Given the description of an element on the screen output the (x, y) to click on. 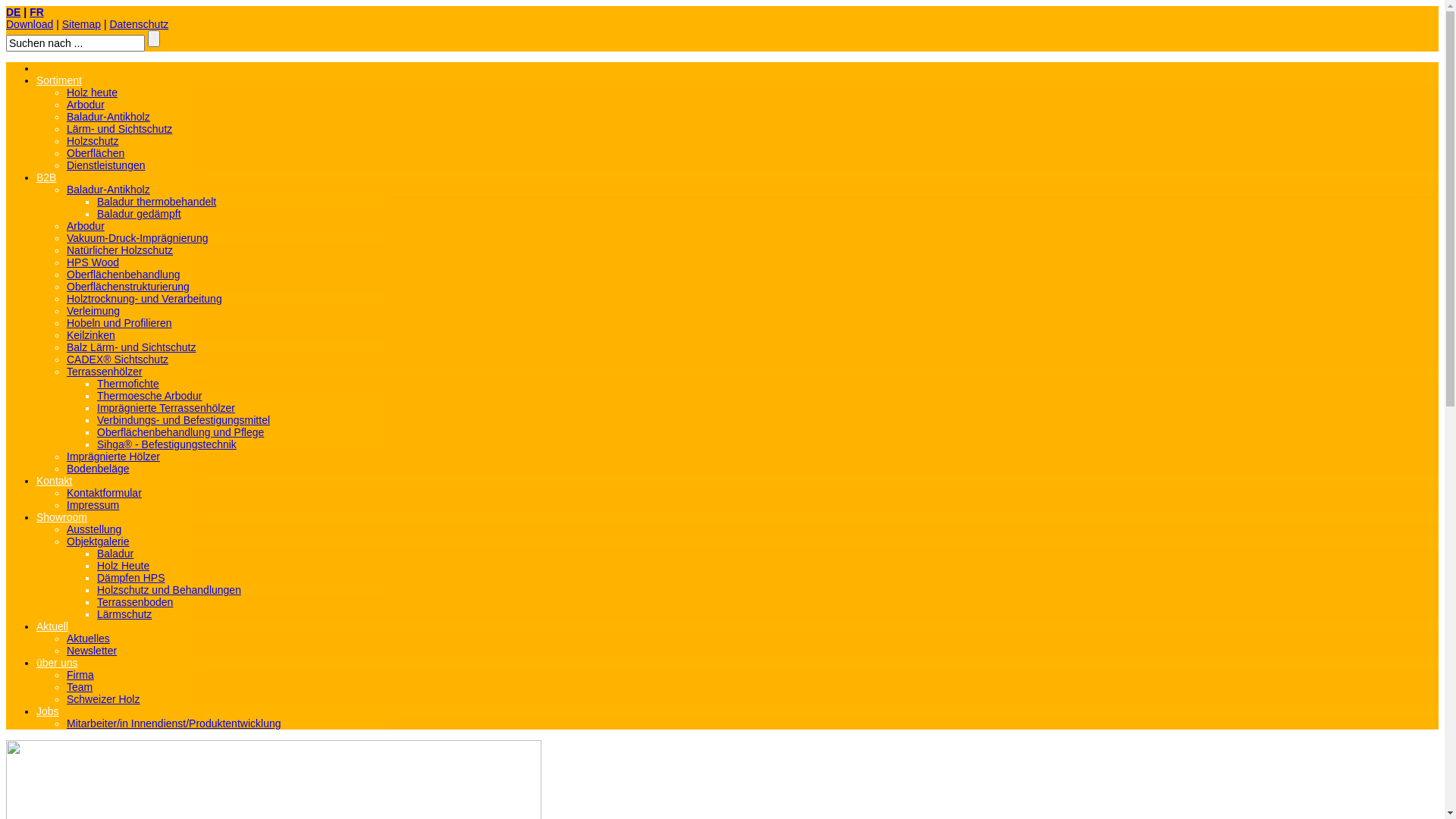
Aktuelles Element type: text (87, 638)
Jobs Element type: text (47, 711)
Baladur-Antikholz Element type: text (108, 116)
Arbodur Element type: text (85, 104)
Sortiment Element type: text (58, 80)
Holztrocknung- und Verarbeitung Element type: text (144, 298)
Newsletter Element type: text (91, 650)
Verbindungs- und Befestigungsmittel Element type: text (183, 420)
HPS Wood Element type: text (92, 262)
Mitarbeiter/in Innendienst/Produktentwicklung Element type: text (173, 723)
Firma Element type: text (80, 674)
Baladur thermobehandelt Element type: text (156, 201)
Aktuell Element type: text (52, 626)
Ausstellung Element type: text (93, 529)
DE Element type: text (13, 12)
Download Element type: text (29, 24)
Datenschutz Element type: text (138, 24)
Sitemap Element type: text (81, 24)
Terrassenboden Element type: text (134, 602)
Thermofichte Element type: text (128, 383)
Verleimung Element type: text (92, 310)
Keilzinken Element type: text (90, 335)
Holzschutz Element type: text (92, 140)
Holzschutz und Behandlungen Element type: text (169, 589)
Showroom Element type: text (61, 517)
Schweizer Holz Element type: text (102, 699)
Kontakt Element type: text (54, 480)
Thermoesche Arbodur Element type: text (149, 395)
Holz Heute Element type: text (123, 565)
FR Element type: text (36, 12)
Objektgalerie Element type: text (97, 541)
Kontaktformular Element type: text (103, 492)
Dienstleistungen Element type: text (105, 165)
Baladur-Antikholz Element type: text (108, 189)
B2B Element type: text (46, 177)
Baladur Element type: text (115, 553)
Hobeln und Profilieren Element type: text (119, 322)
Arbodur Element type: text (85, 225)
Team Element type: text (79, 686)
Impressum Element type: text (92, 504)
Holz heute Element type: text (91, 92)
